Given the description of an element on the screen output the (x, y) to click on. 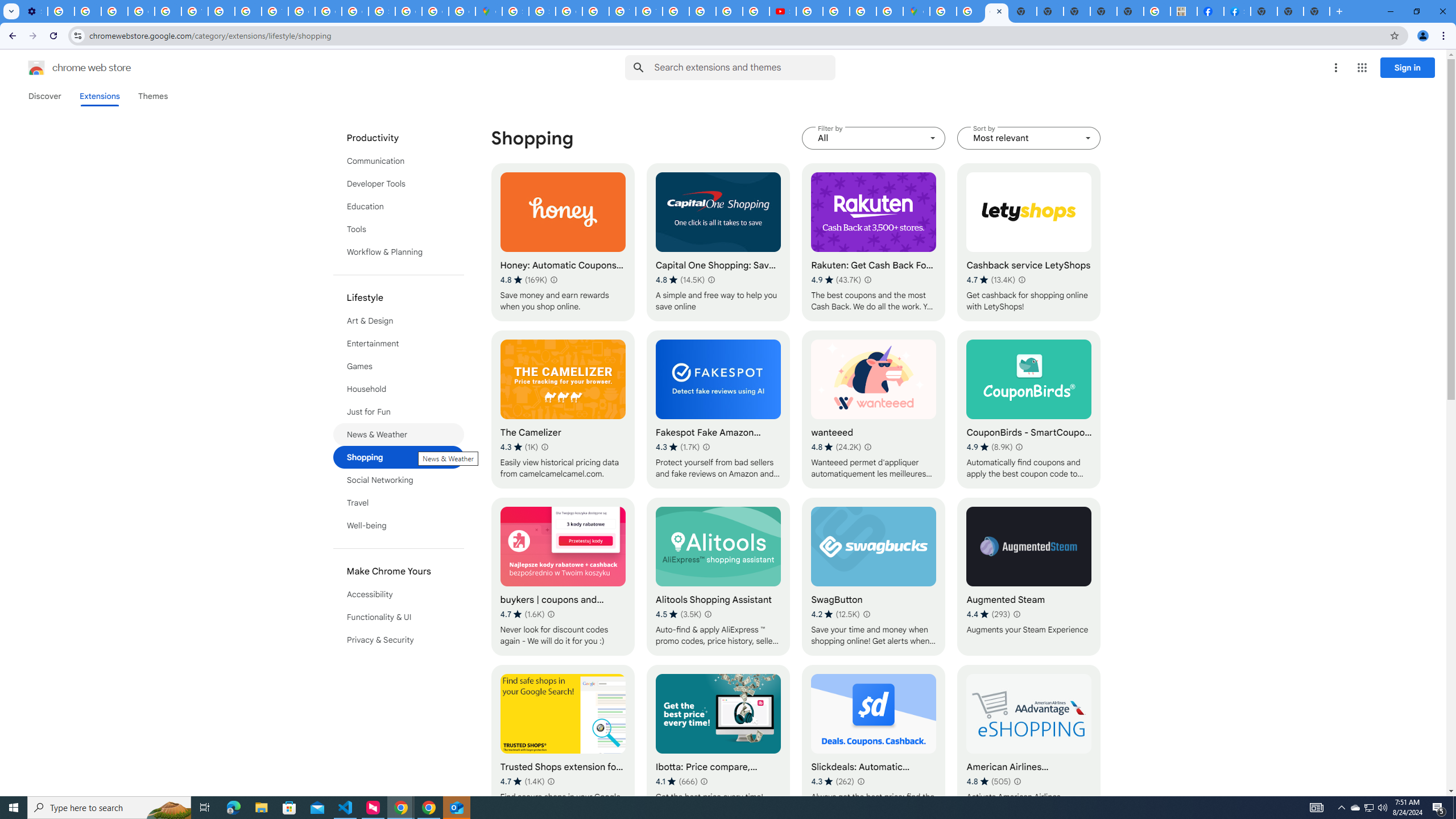
Average rating 4.1 out of 5 stars. 666 ratings. (676, 781)
Miley Cyrus | Facebook (1210, 11)
Art & Design (398, 320)
Learn more about results and reviews "SwagButton" (866, 613)
Shopping (selected) (398, 456)
Rakuten: Get Cash Back For Shopping (874, 241)
List of categories in Chrome Web Store. (398, 388)
Average rating 4.8 out of 5 stars. 14.5K ratings. (679, 279)
Privacy Help Center - Policies Help (248, 11)
Blogger Policies and Guidelines - Transparency Center (676, 11)
Themes (152, 95)
